Given the description of an element on the screen output the (x, y) to click on. 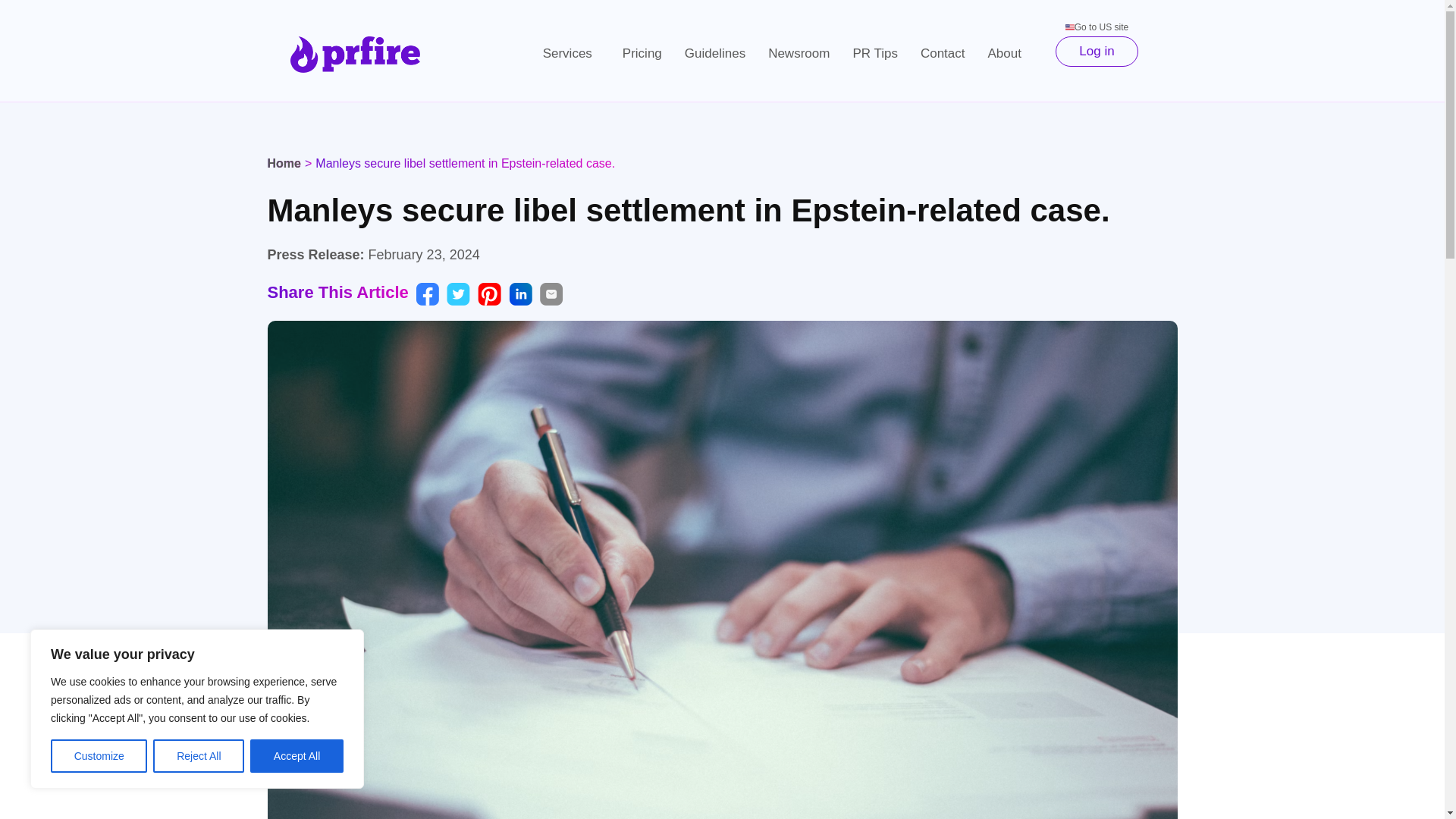
Reject All (198, 756)
Newsroom (799, 53)
Services (571, 53)
About (1008, 53)
Pricing (641, 53)
Accept All (296, 756)
Guidelines (714, 53)
Customize (98, 756)
PR Tips (874, 53)
Contact (942, 53)
